Given the description of an element on the screen output the (x, y) to click on. 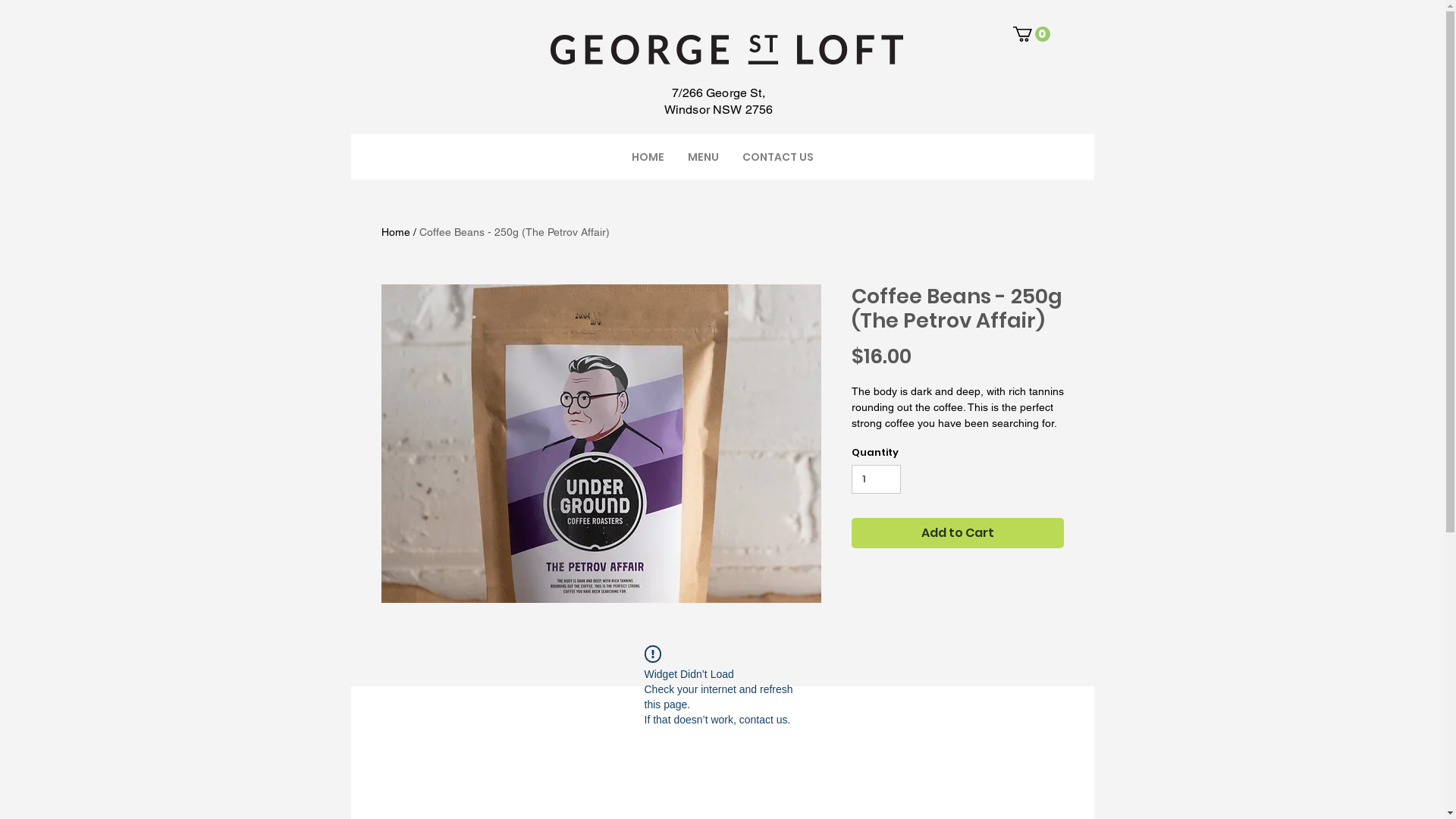
Home Element type: text (394, 231)
0 Element type: text (1031, 33)
Add to Cart Element type: text (956, 532)
HOME Element type: text (647, 156)
MENU Element type: text (702, 156)
CONTACT US Element type: text (777, 156)
Coffee Beans - 250g (The Petrov Affair) Element type: text (513, 231)
